Given the description of an element on the screen output the (x, y) to click on. 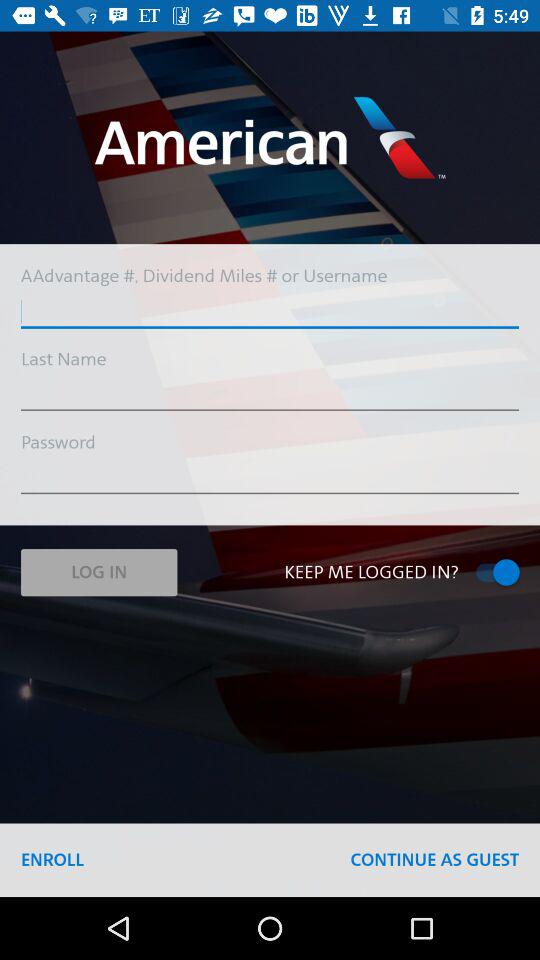
select icon below log in (52, 859)
